Given the description of an element on the screen output the (x, y) to click on. 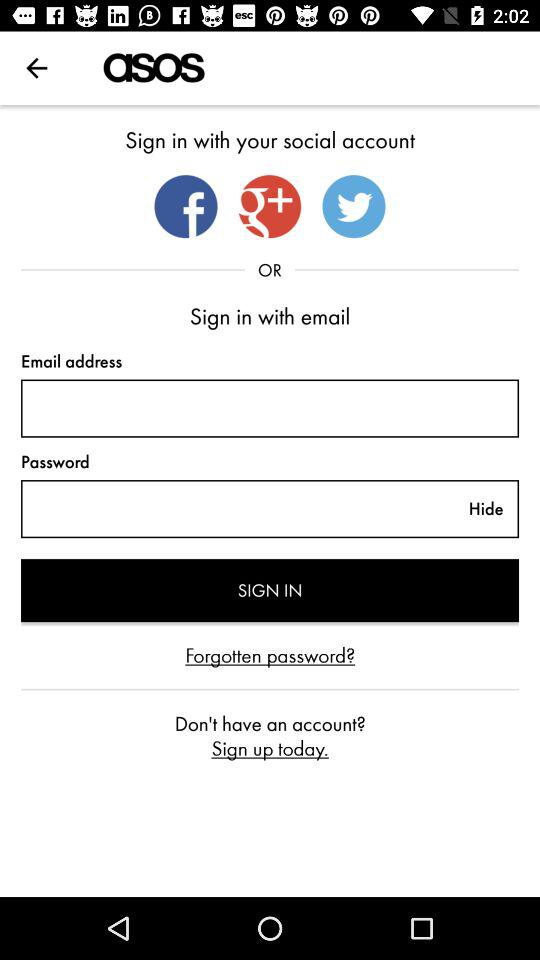
description (237, 509)
